Given the description of an element on the screen output the (x, y) to click on. 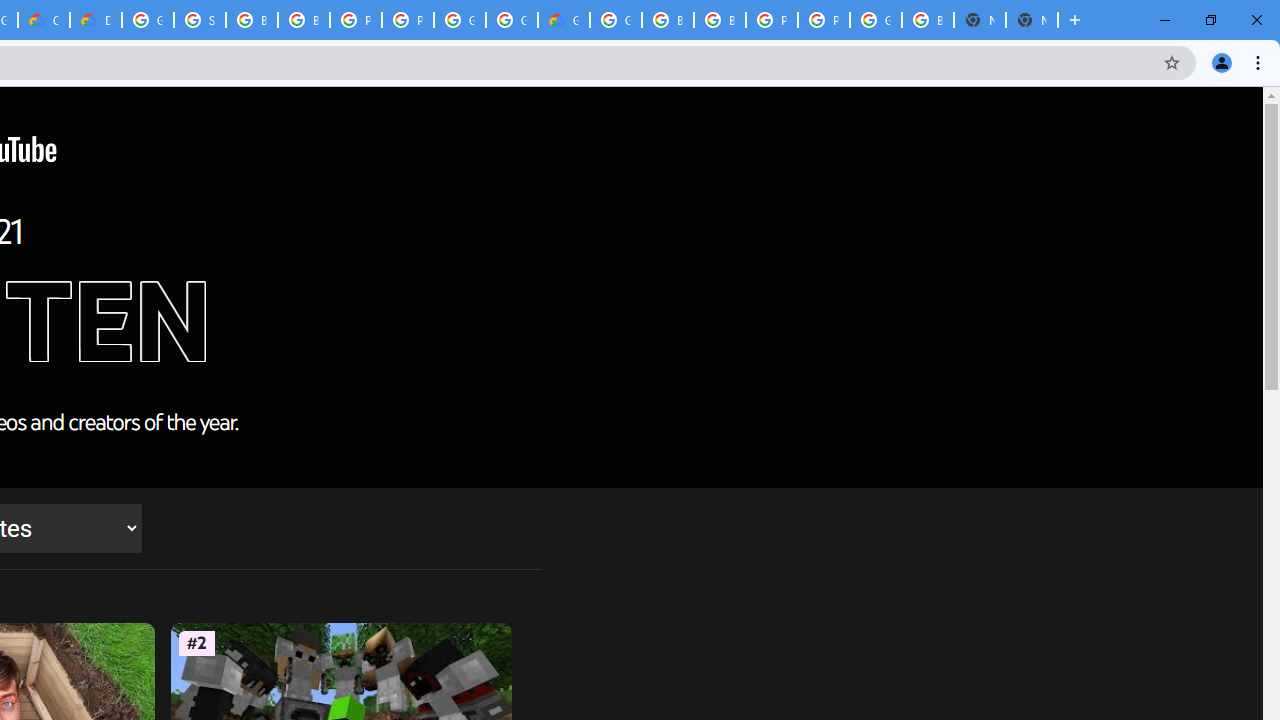
Sign in - Google Accounts (200, 20)
Google Cloud Platform (147, 20)
New Tab (1032, 20)
Google Cloud Platform (459, 20)
Customer Care | Google Cloud (43, 20)
Browse Chrome as a guest - Computer - Google Chrome Help (667, 20)
